Given the description of an element on the screen output the (x, y) to click on. 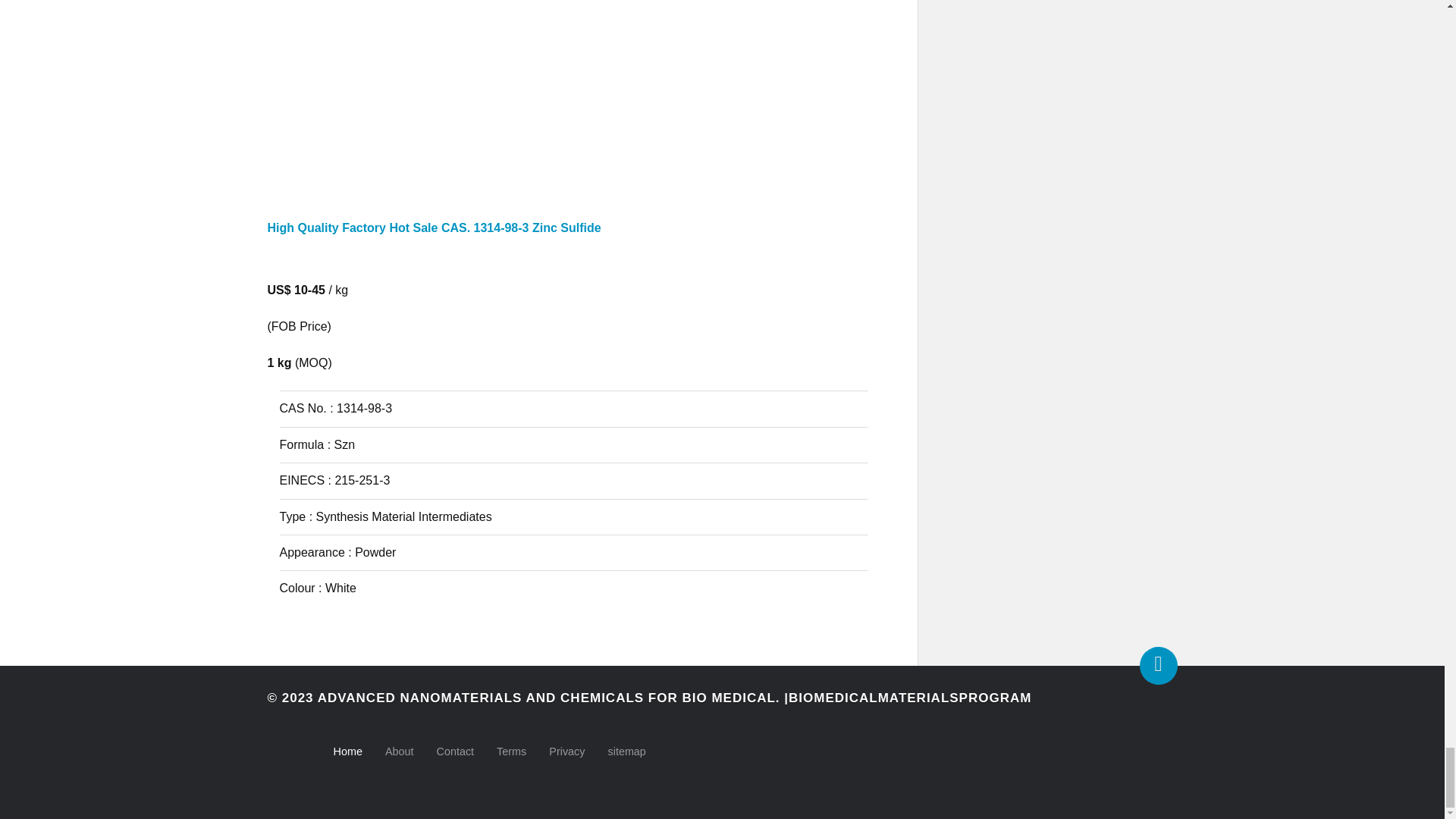
High Quality Factory Hot Sale CAS. 1314-98-3 Zinc Sulfide (566, 241)
